Given the description of an element on the screen output the (x, y) to click on. 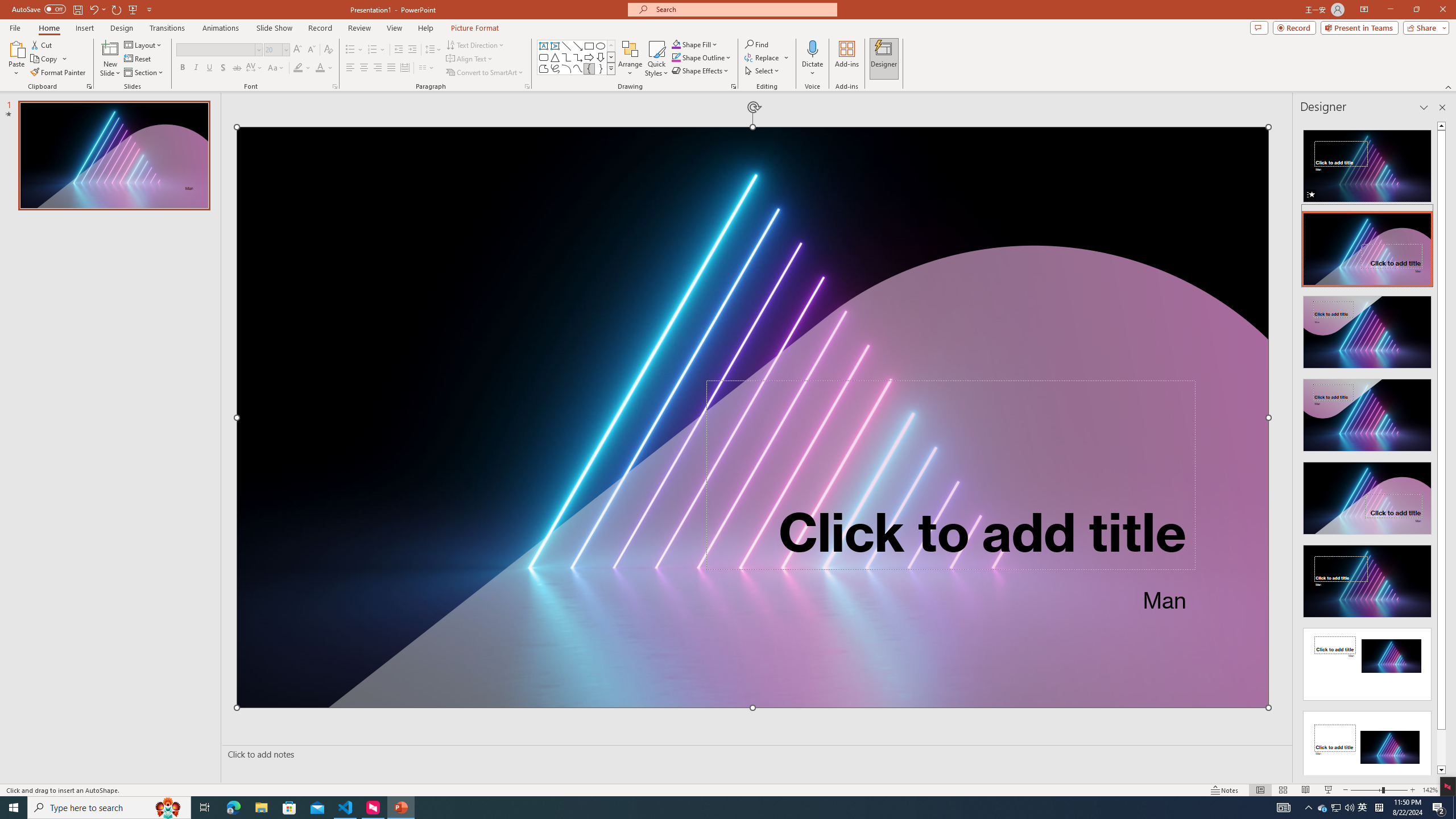
Design Idea (1366, 743)
